Given the description of an element on the screen output the (x, y) to click on. 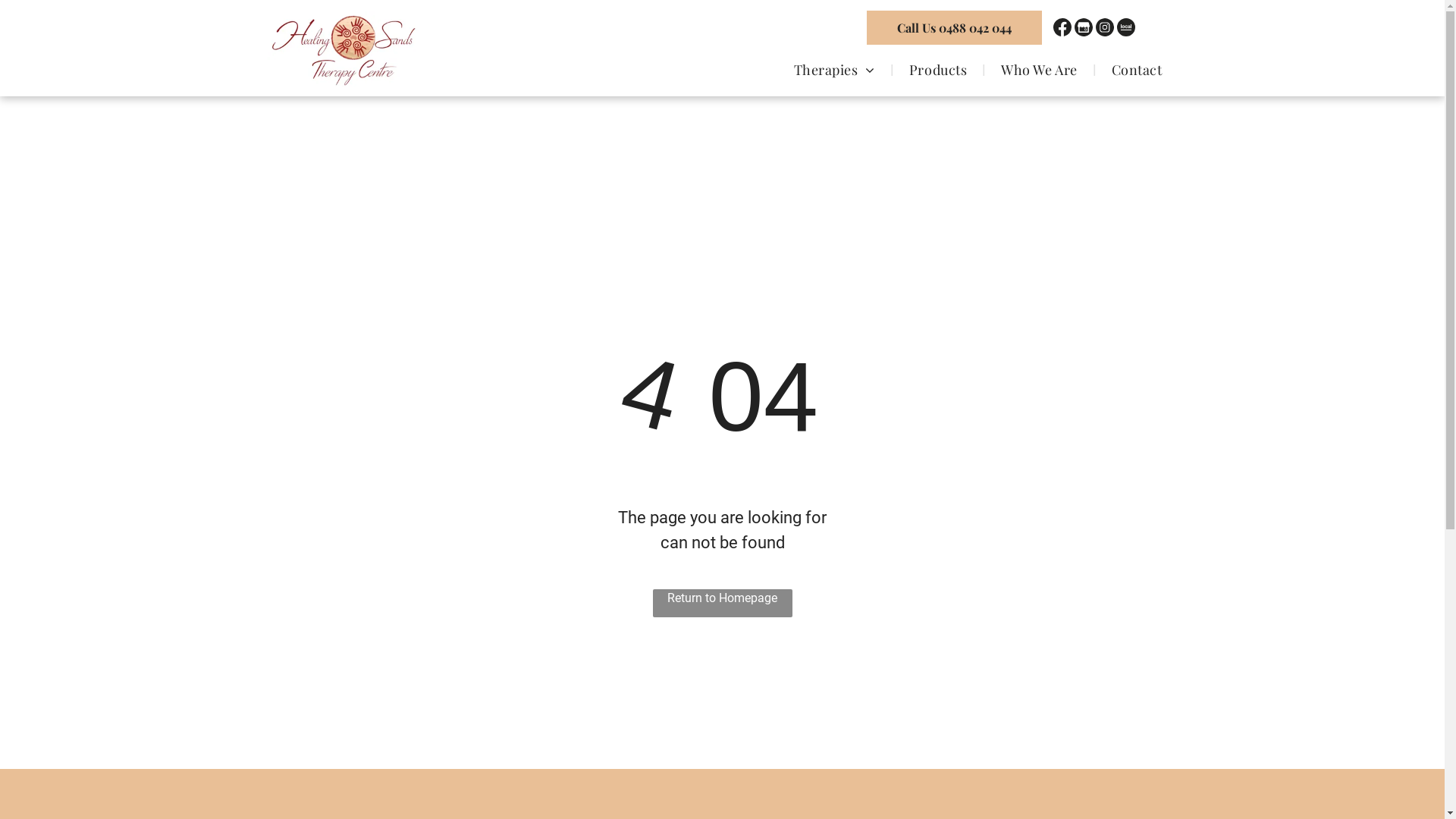
Contact Element type: text (1136, 68)
Call Us 0488 042 044 Element type: text (953, 27)
Find Us On GMB Element type: hover (1083, 27)
Products Element type: text (938, 68)
www.localsearch.com.au Element type: hover (1126, 27)
Find Us On Facebook Element type: hover (1062, 27)
Therapies Element type: text (834, 68)
Who We Are Element type: text (1038, 68)
Follow Us On Instagram Element type: hover (1104, 27)
Return to Homepage Element type: text (721, 603)
